Given the description of an element on the screen output the (x, y) to click on. 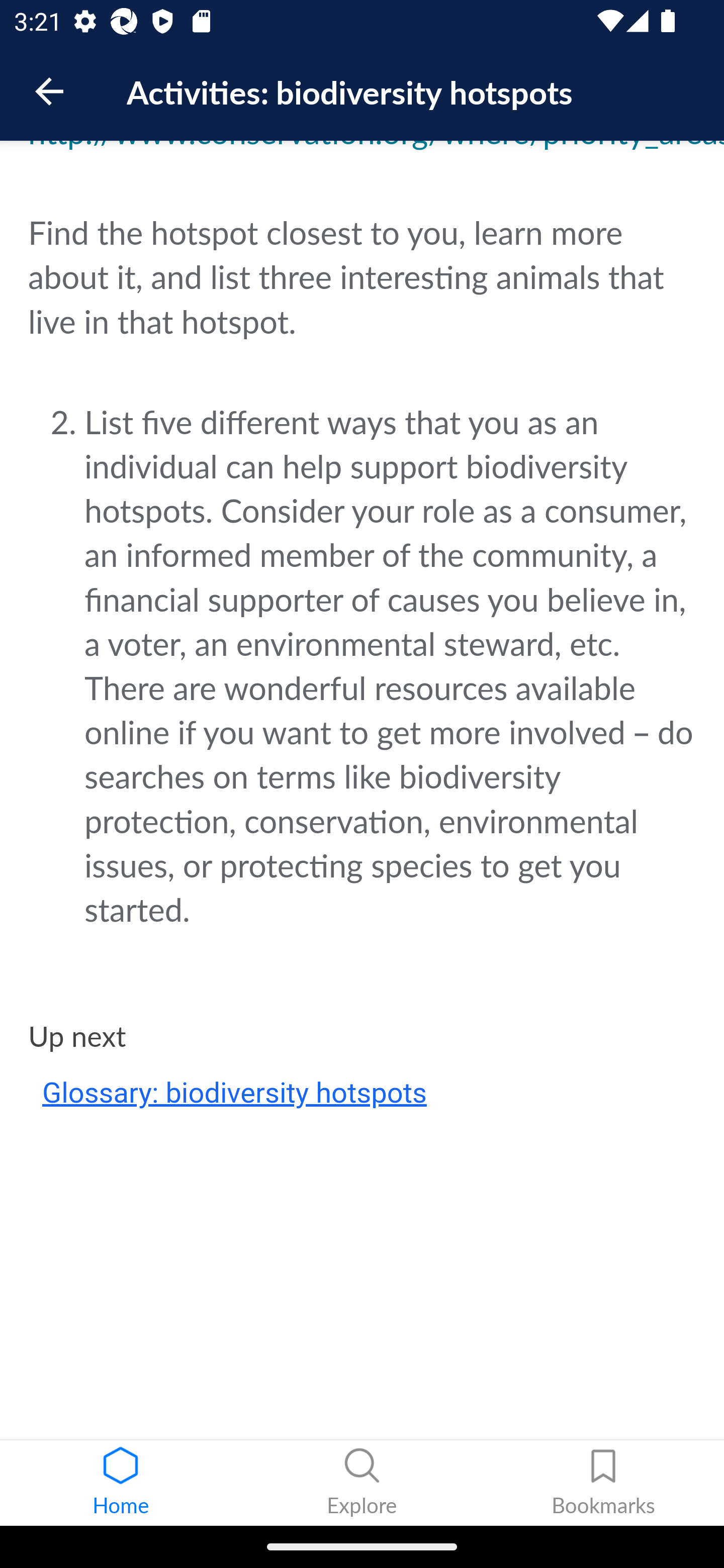
Navigate up (49, 91)
Glossary: biodiversity hotspots (234, 1093)
Home (120, 1482)
Explore (361, 1482)
Bookmarks (603, 1482)
